Given the description of an element on the screen output the (x, y) to click on. 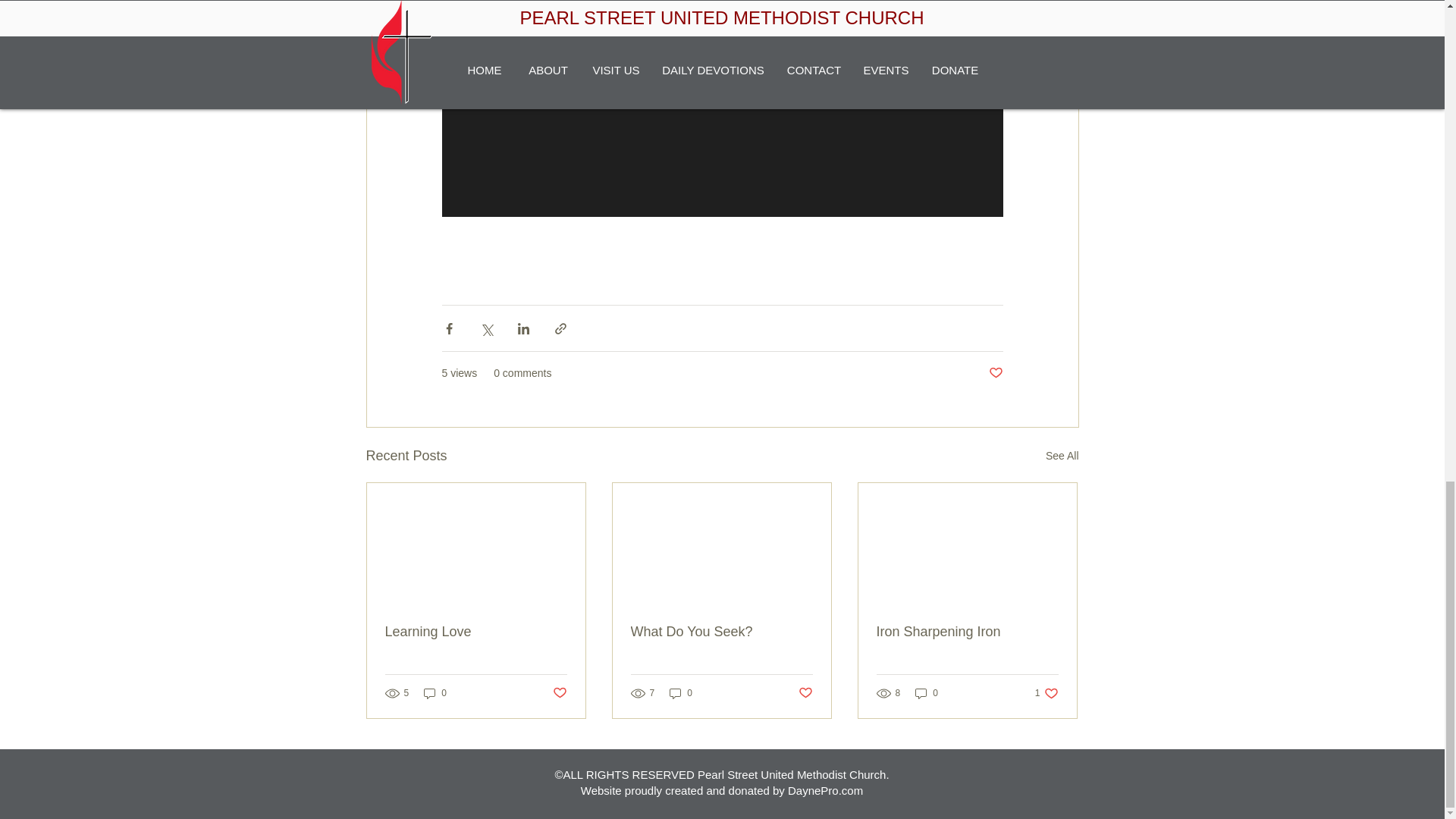
Iron Sharpening Iron (967, 631)
Post not marked as liked (995, 373)
Post not marked as liked (804, 693)
What Do You Seek? (721, 631)
0 (435, 693)
Learning Love (476, 631)
0 (681, 693)
Post not marked as liked (558, 693)
0 (926, 693)
See All (1061, 455)
